Given the description of an element on the screen output the (x, y) to click on. 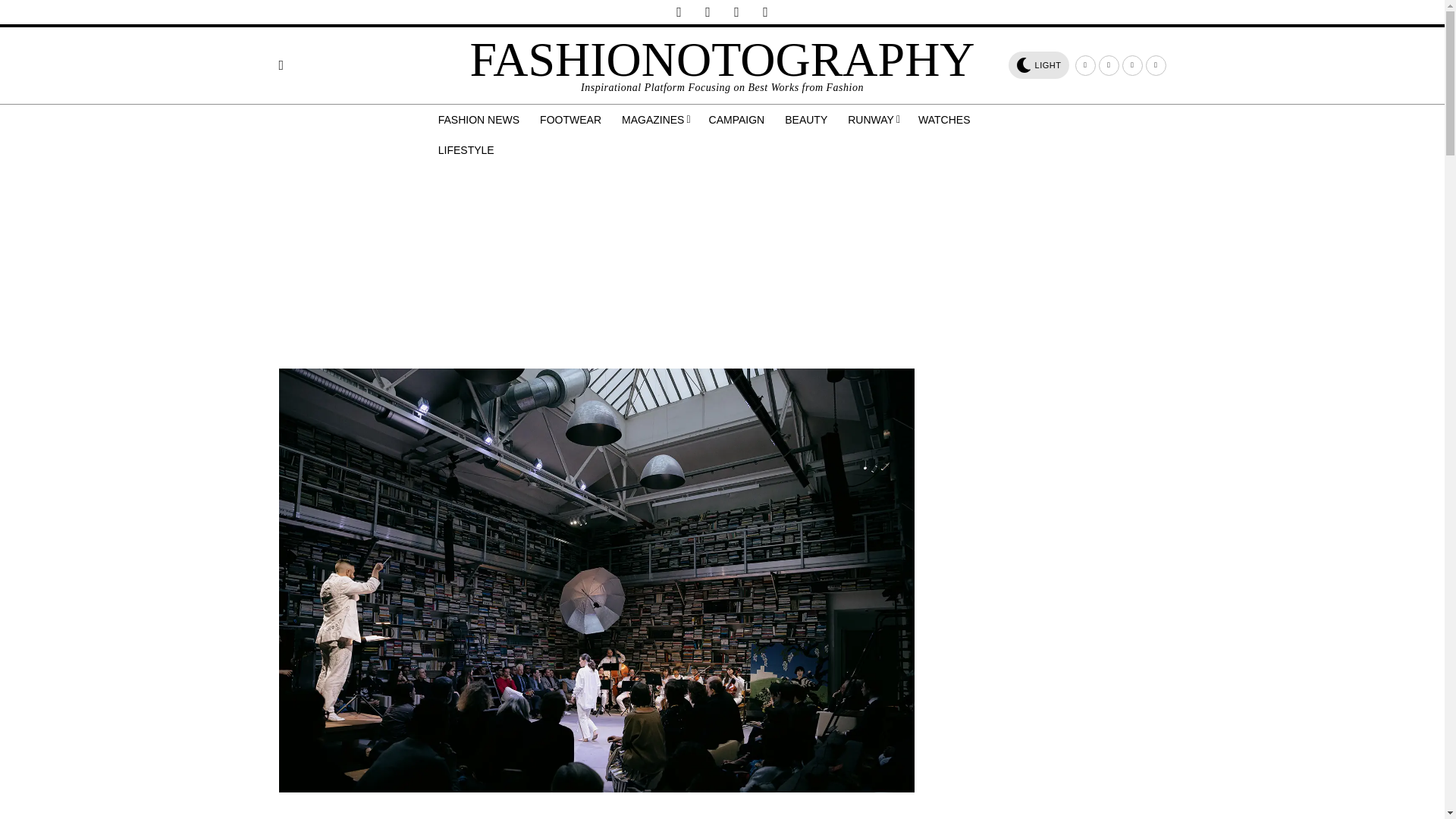
LIFESTYLE (467, 150)
WATCHES (944, 119)
CAMPAIGN (738, 119)
FASHION NEWS (480, 119)
FASHIONOTOGRAPHY (721, 59)
RUNWAY (873, 119)
FOOTWEAR (571, 119)
BEAUTY (807, 119)
